Given the description of an element on the screen output the (x, y) to click on. 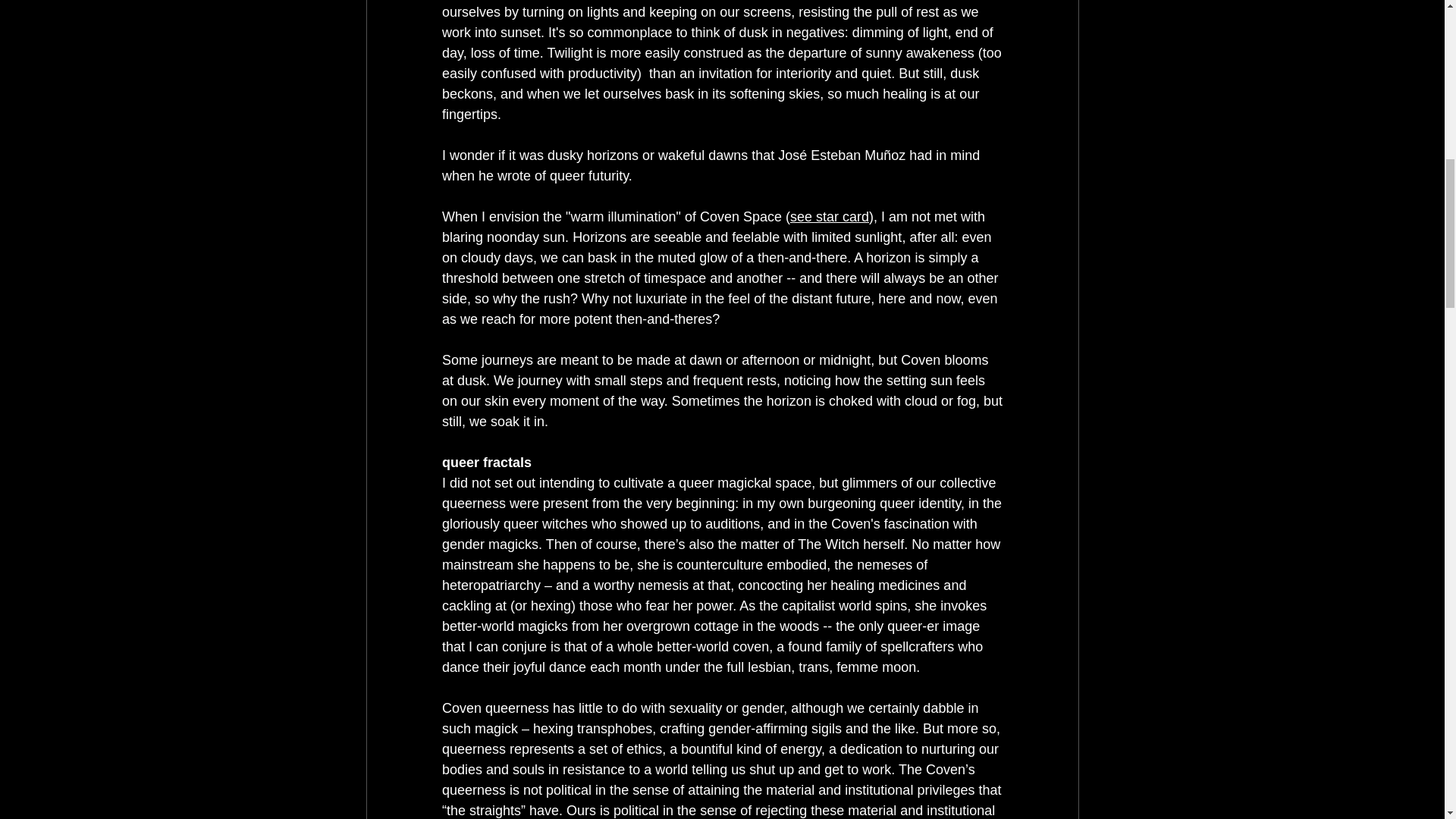
see star card (829, 216)
